Given the description of an element on the screen output the (x, y) to click on. 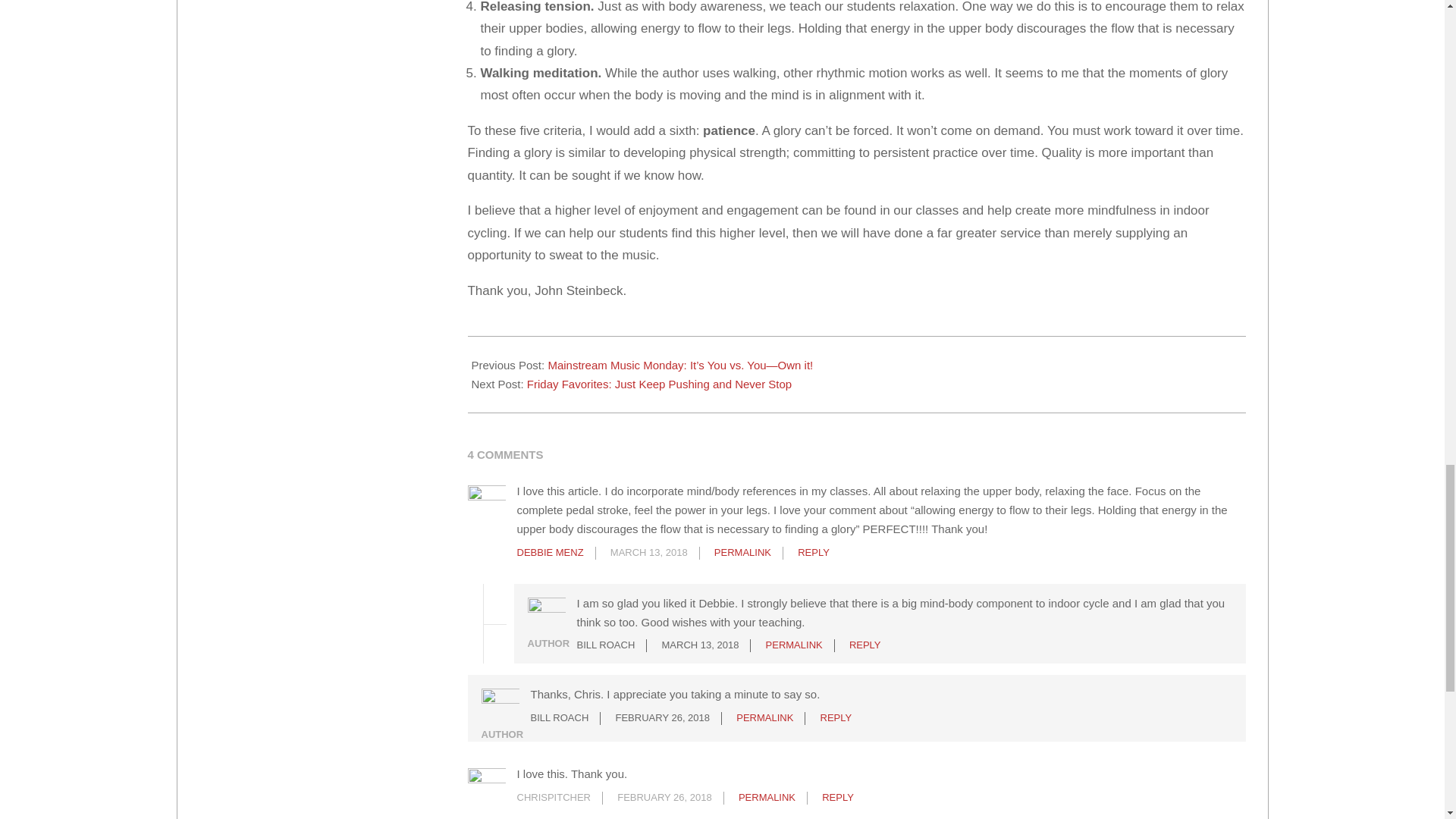
Monday, February 26, 2018, 11:50 am (662, 717)
Tuesday, March 13, 2018, 7:54 pm (648, 552)
Tuesday, March 13, 2018, 9:23 pm (699, 644)
Monday, February 26, 2018, 10:02 am (664, 797)
